Given the description of an element on the screen output the (x, y) to click on. 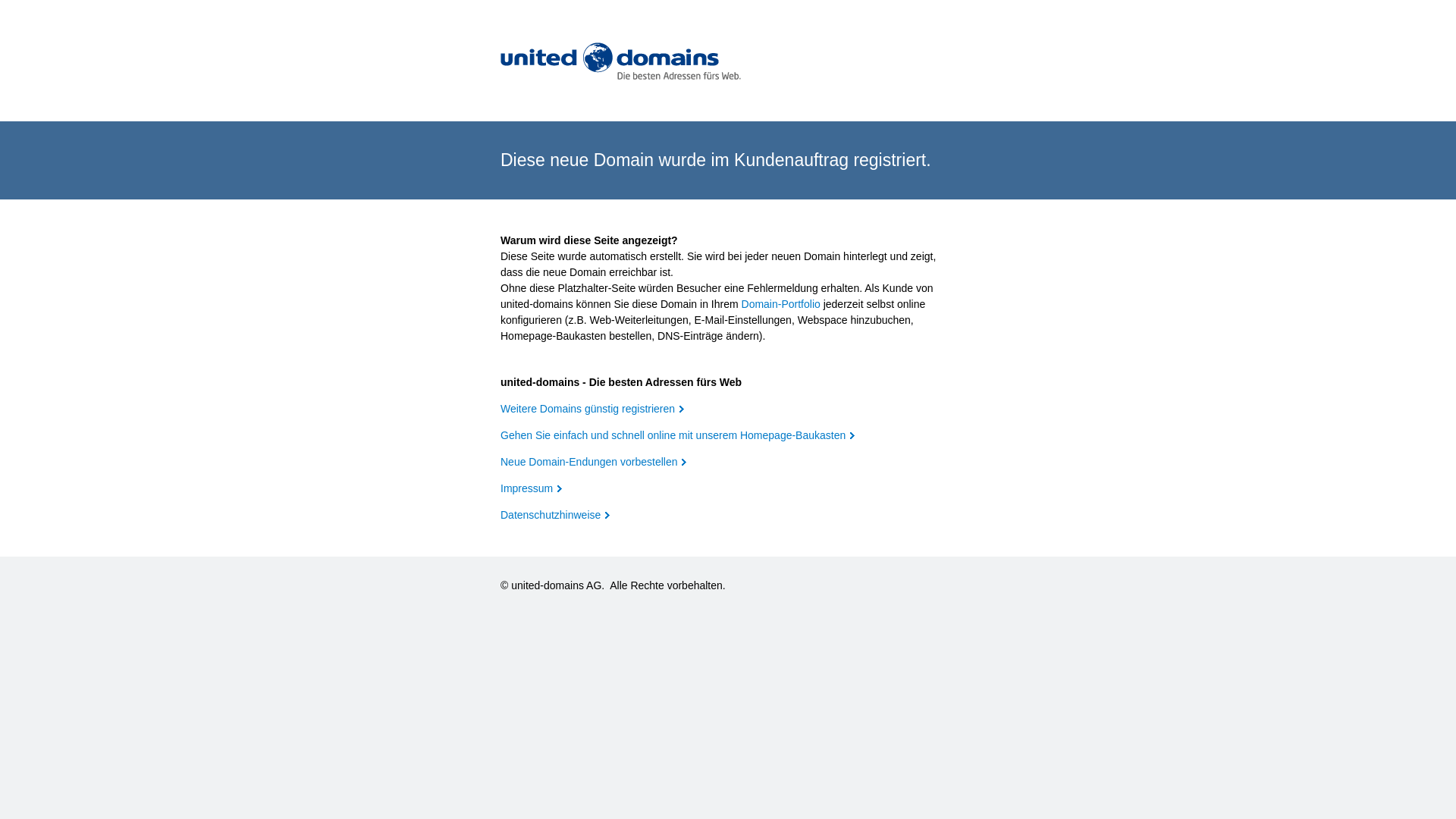
Neue Domain-Endungen vorbestellen Element type: text (593, 461)
Impressum Element type: text (530, 488)
Domain-Portfolio Element type: text (780, 304)
Datenschutzhinweise Element type: text (554, 514)
